Given the description of an element on the screen output the (x, y) to click on. 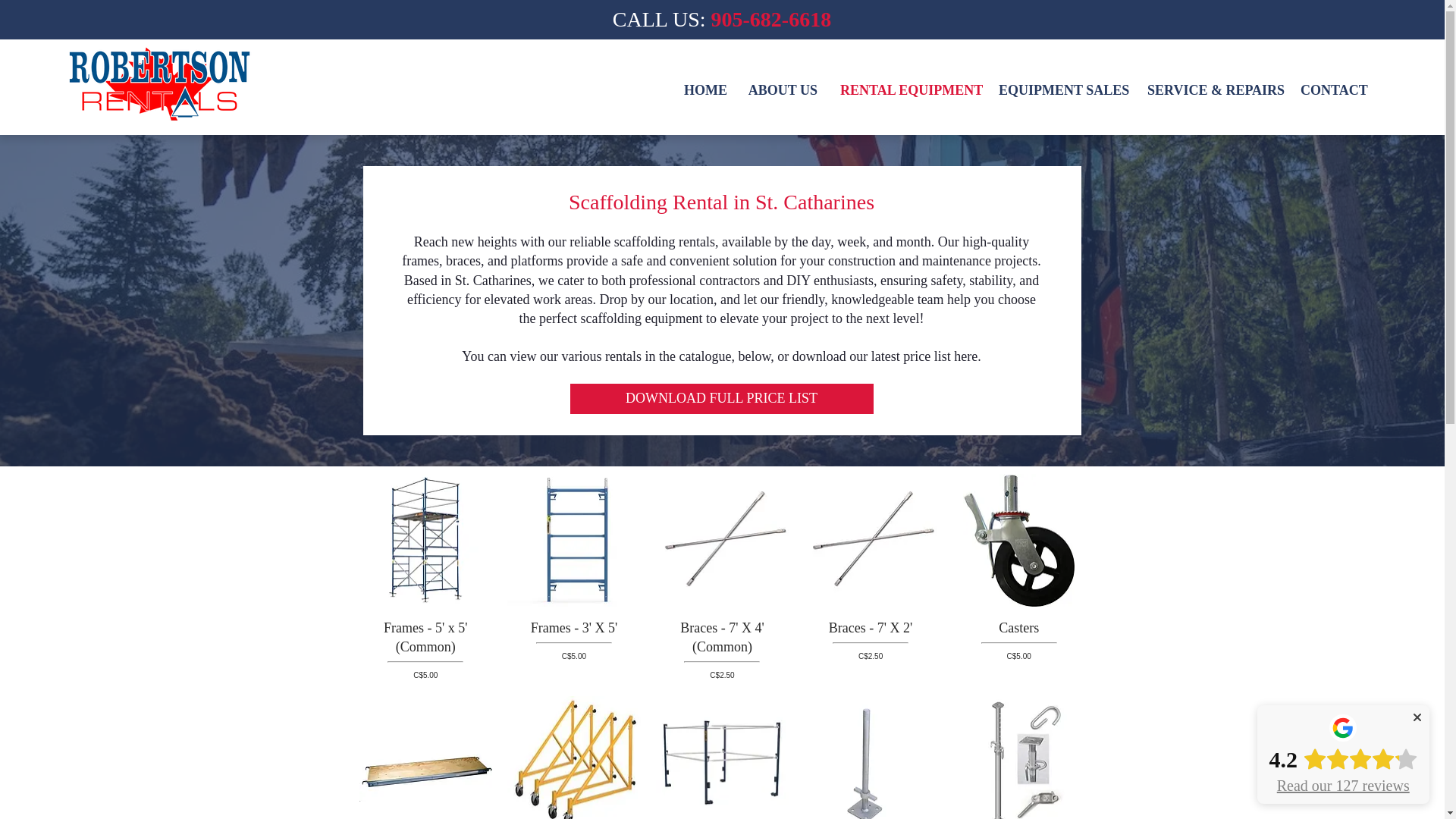
RobertsonLogo.png (159, 83)
CALL US: 905-682-6618 (721, 19)
HOME (704, 89)
RENTAL EQUIPMENT (907, 89)
CONTACT (1331, 89)
DOWNLOAD FULL PRICE LIST (721, 399)
EQUIPMENT SALES (1061, 89)
ABOUT US (782, 89)
